Given the description of an element on the screen output the (x, y) to click on. 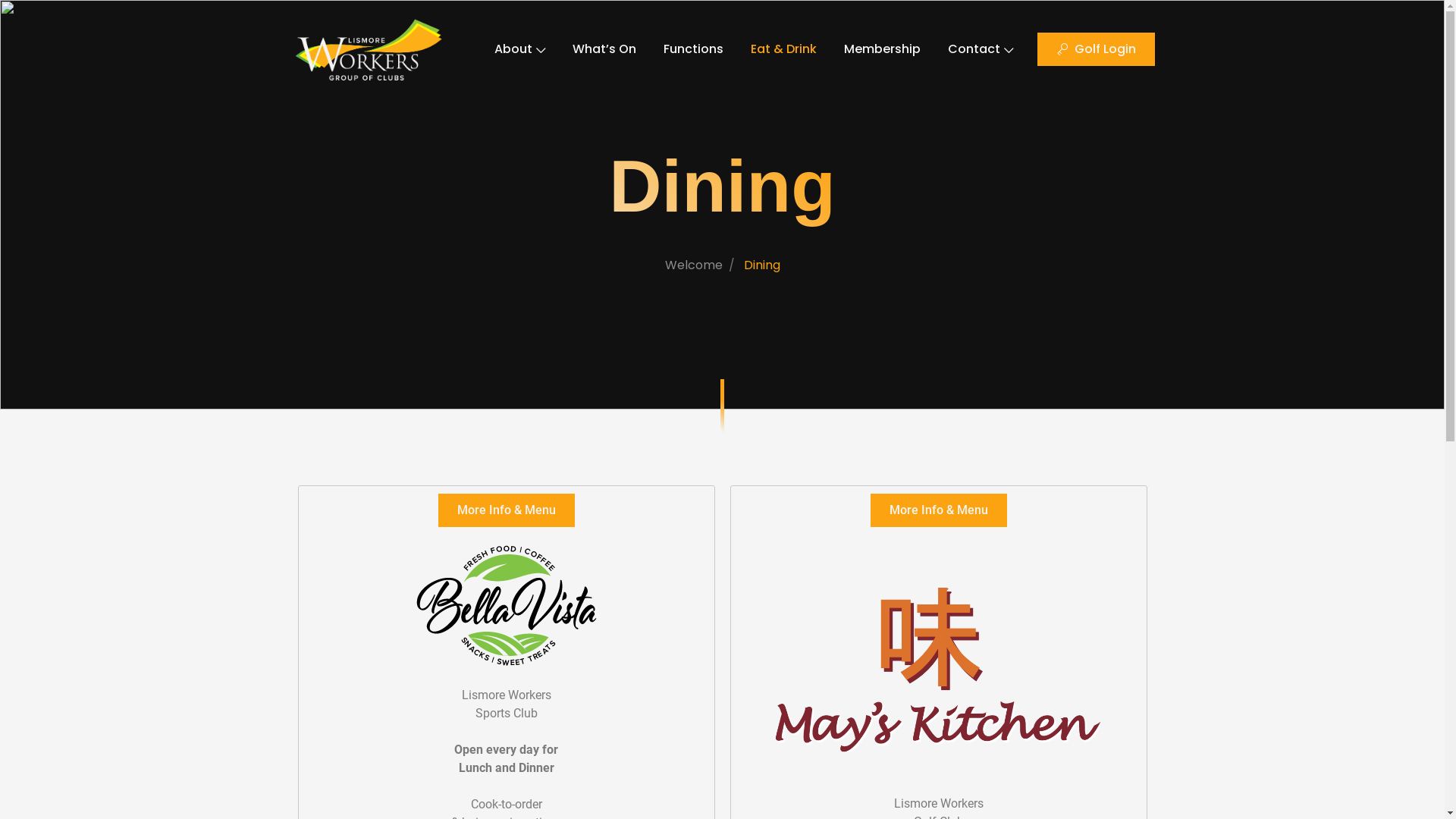
Golf Login Element type: text (1095, 48)
Eat & Drink Element type: text (783, 49)
Membership Element type: text (881, 49)
More Info & Menu Element type: text (506, 510)
Welcome Element type: text (692, 264)
Functions Element type: text (693, 49)
More Info & Menu Element type: text (938, 510)
Contact Element type: text (980, 49)
About Element type: text (519, 49)
